Given the description of an element on the screen output the (x, y) to click on. 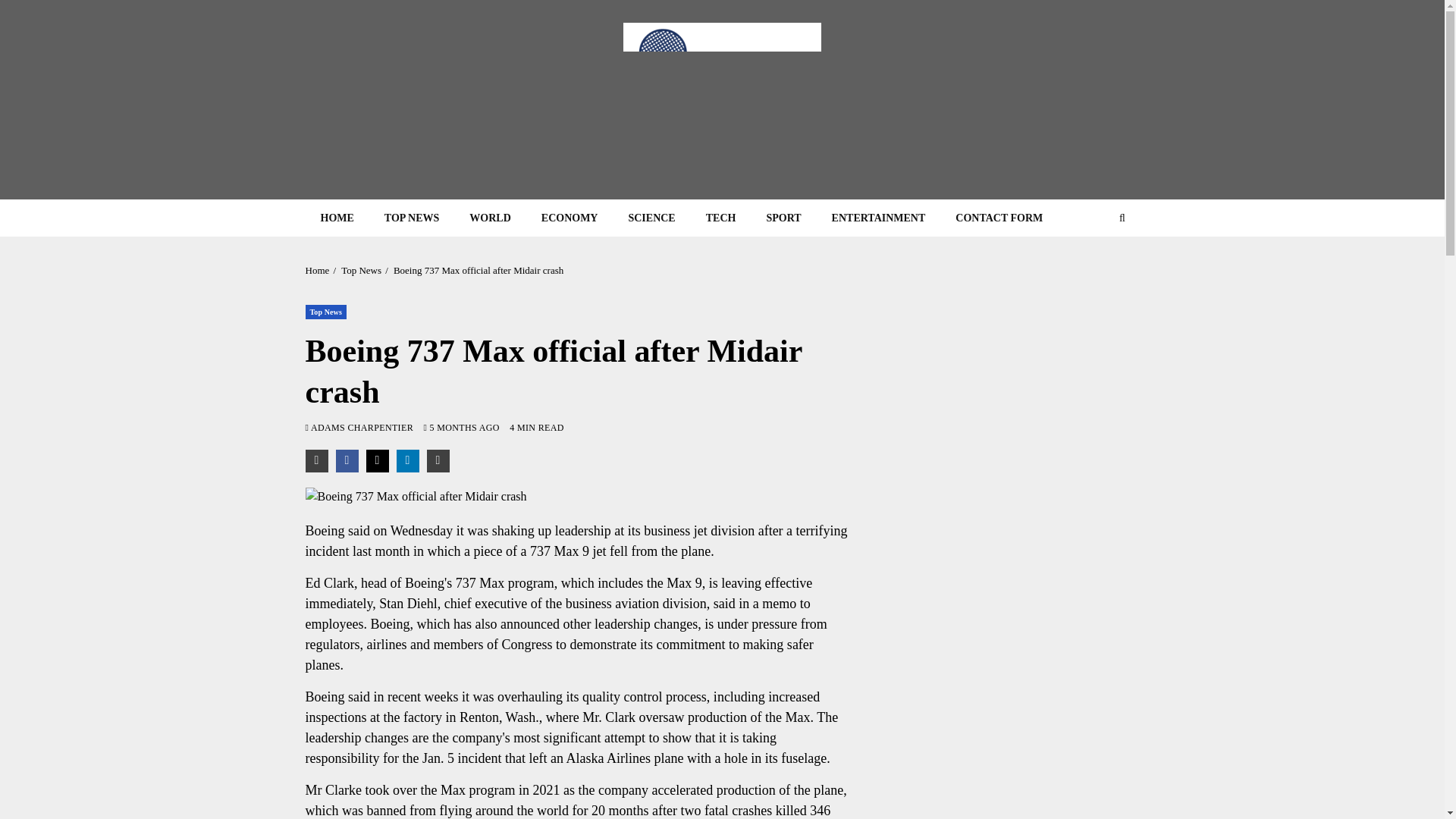
WORLD (489, 217)
Top News (360, 270)
TOP NEWS (411, 217)
Home (316, 270)
SPORT (783, 217)
TECH (720, 217)
Boeing 737 Max official after Midair crash (578, 496)
HOME (336, 217)
Boeing 737 Max official after Midair crash (478, 270)
Top News (325, 311)
SCIENCE (651, 217)
ECONOMY (568, 217)
Search (1092, 263)
CONTACT FORM (999, 217)
ENTERTAINMENT (878, 217)
